Given the description of an element on the screen output the (x, y) to click on. 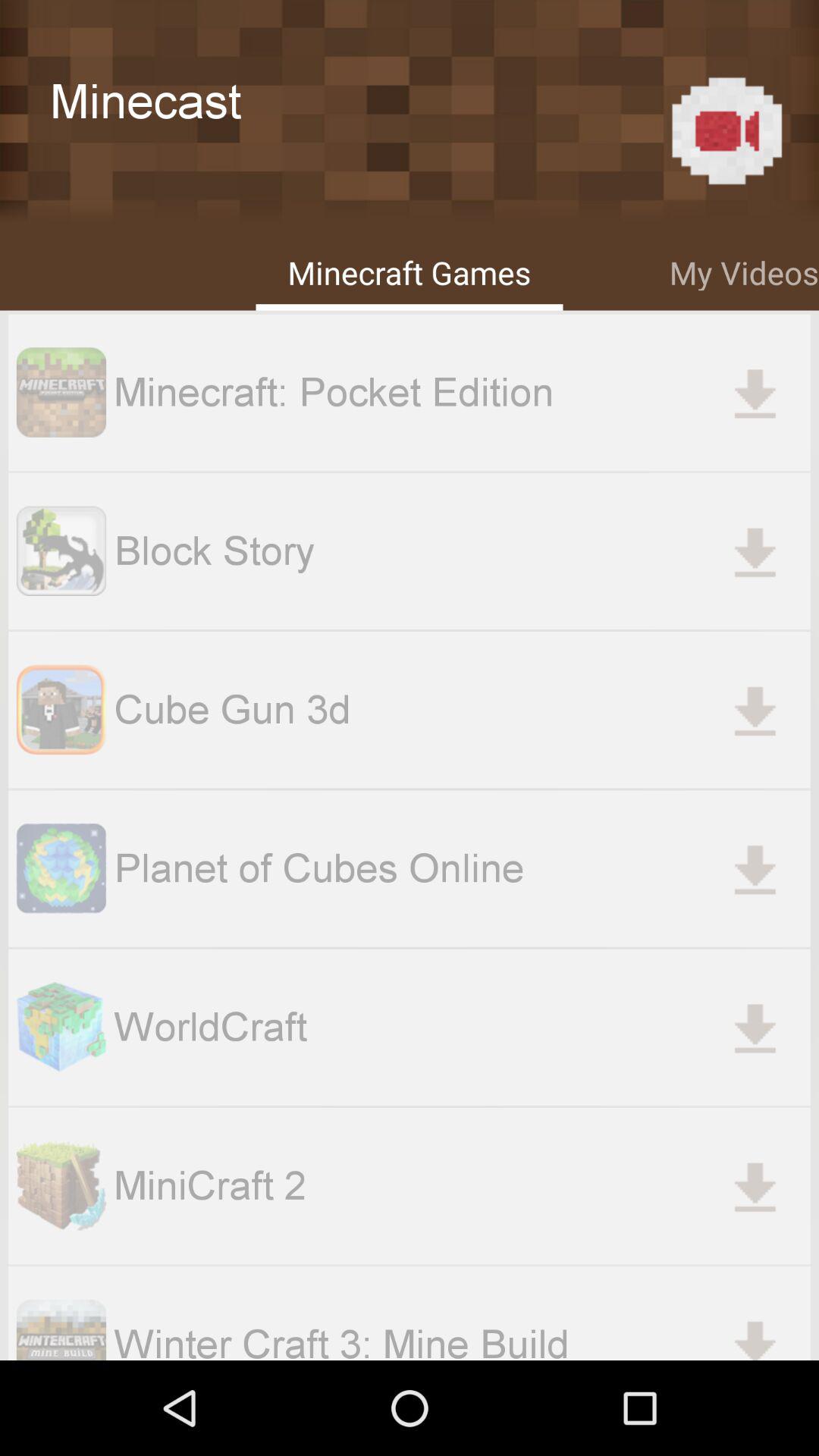
launch the winter craft 3 item (462, 1338)
